Given the description of an element on the screen output the (x, y) to click on. 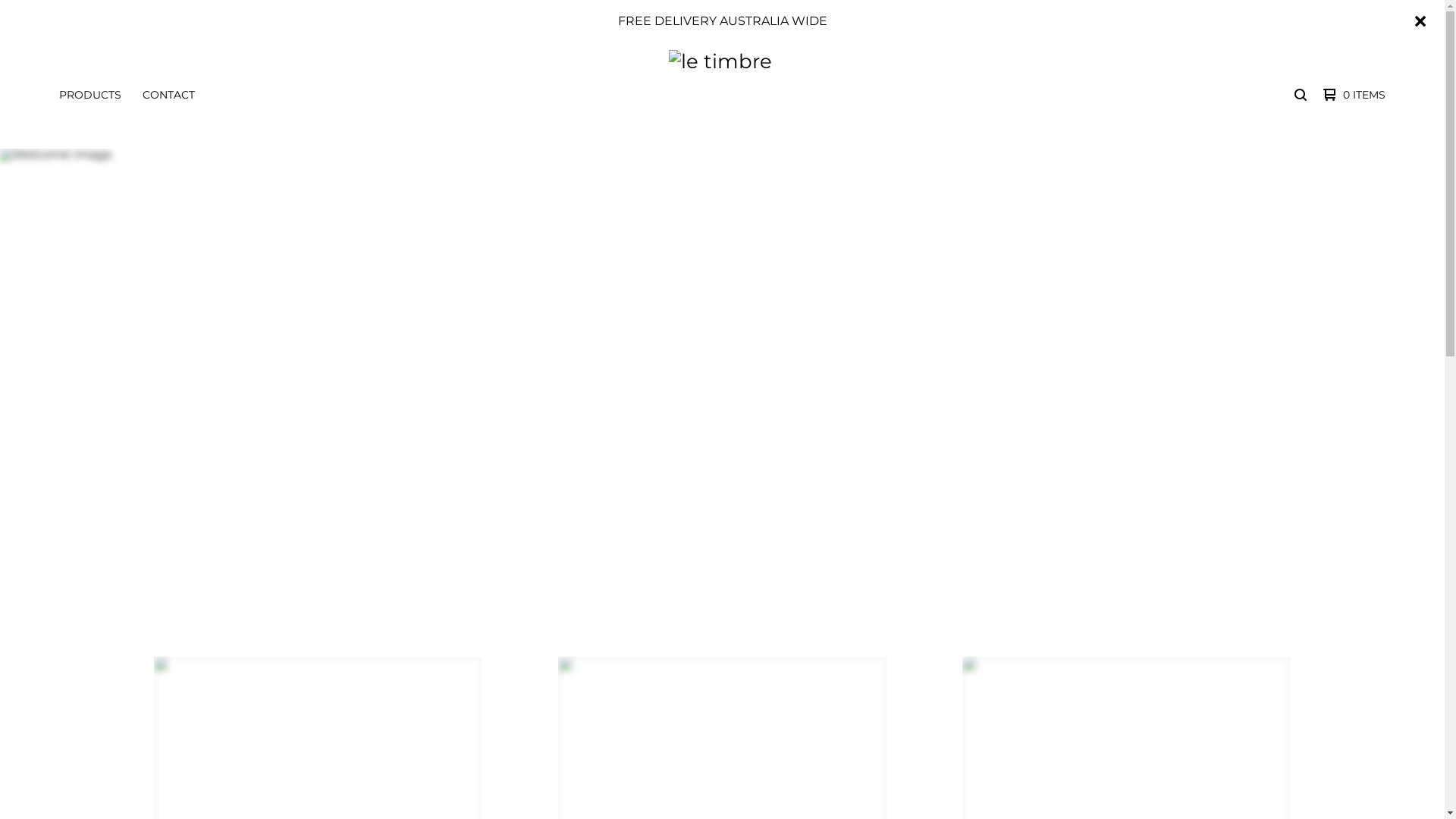
le timbre Element type: hover (719, 94)
CONTACT Element type: text (168, 94)
Close announcement message Element type: hover (1420, 21)
0 ITEMS Element type: text (1350, 94)
PRODUCTS Element type: text (89, 94)
